Given the description of an element on the screen output the (x, y) to click on. 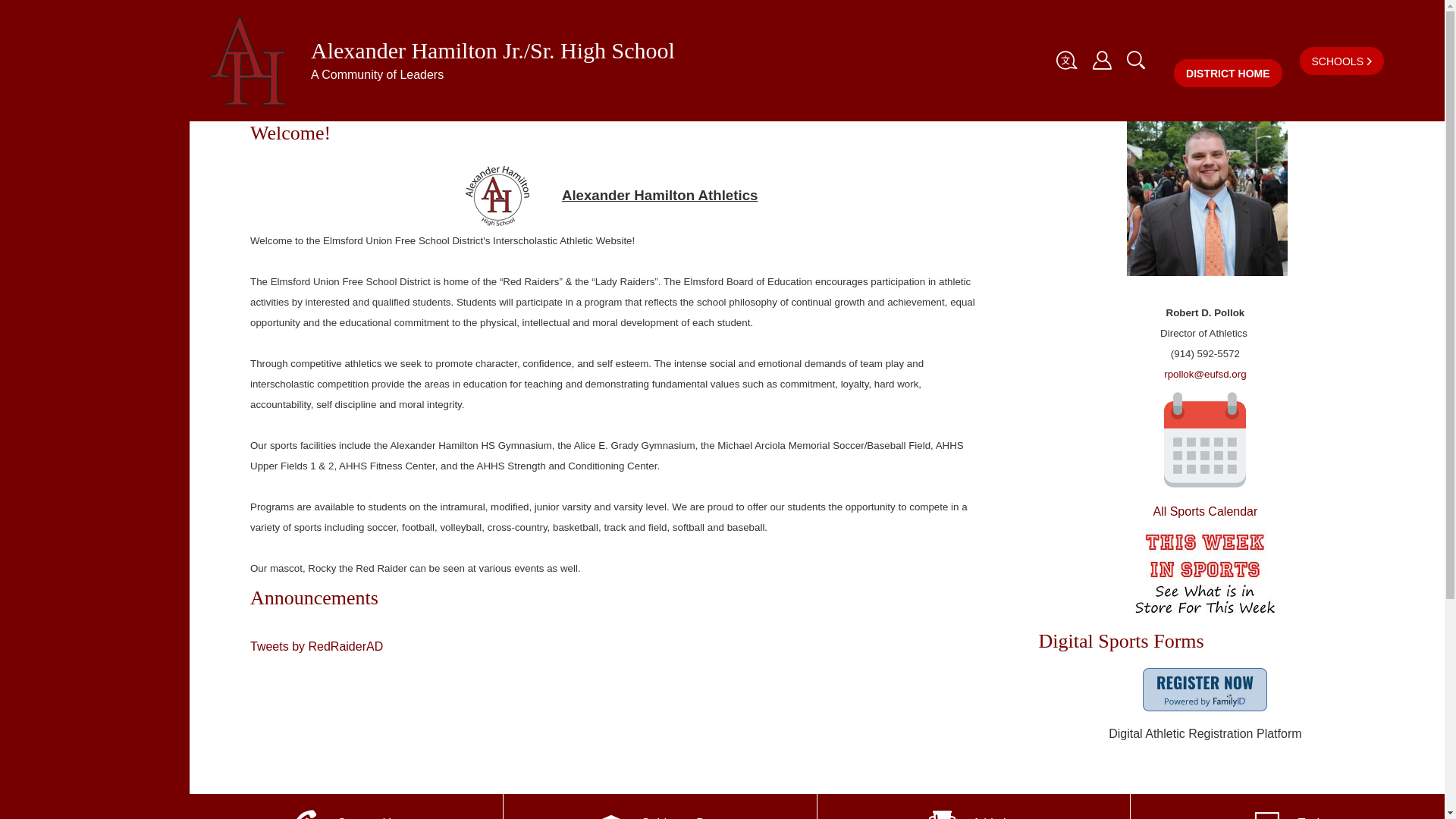
Mr. Pollok (1206, 198)
This Week In Sports (1204, 575)
Return to the homepage on the district site. (1227, 72)
AHHS (497, 194)
Family ID Registration (1204, 689)
